Given the description of an element on the screen output the (x, y) to click on. 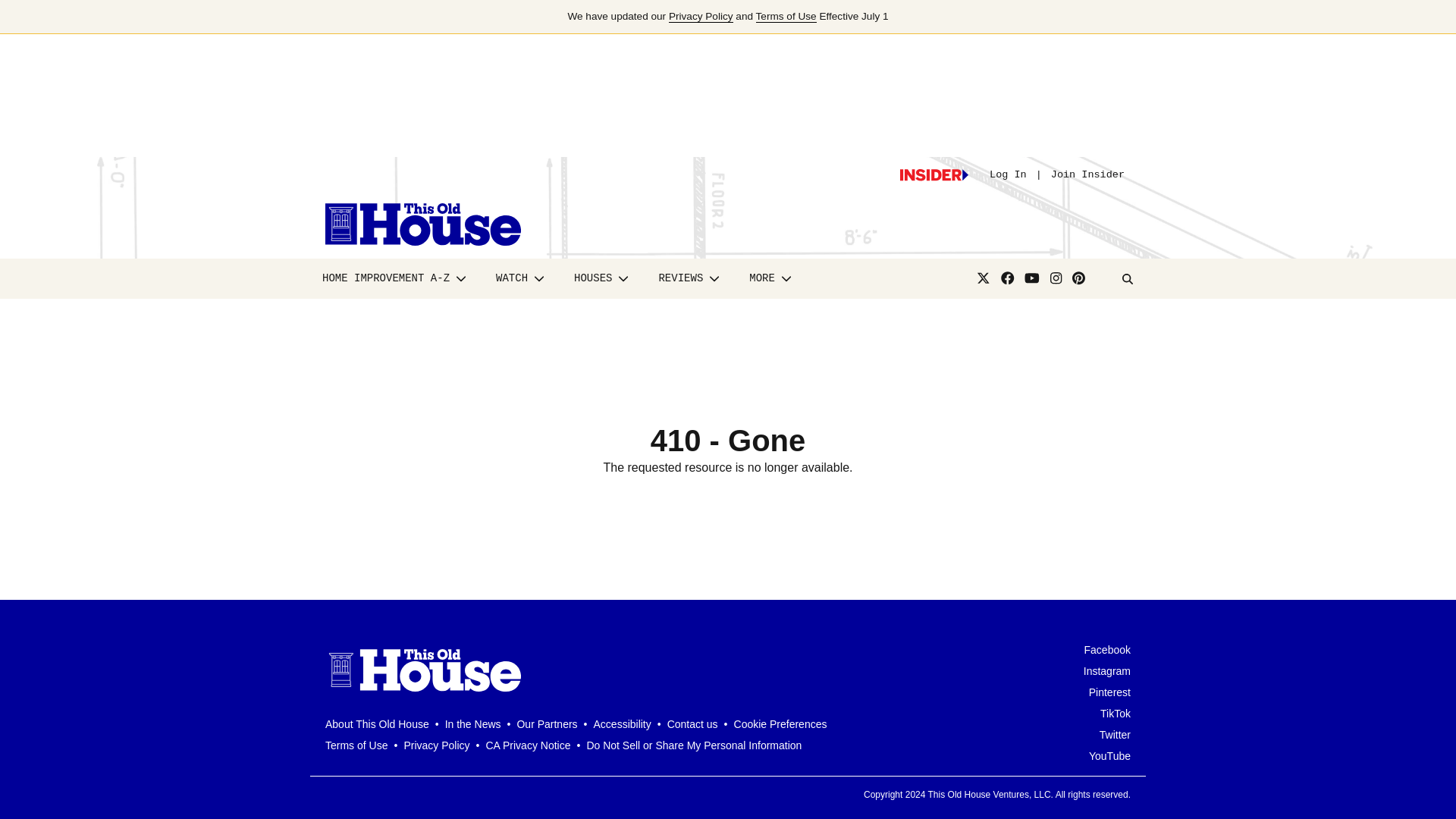
Terms of Use (785, 16)
Log In (1008, 174)
Privacy Policy (700, 16)
Log in or sign up (933, 174)
Join Insider (1087, 174)
